Given the description of an element on the screen output the (x, y) to click on. 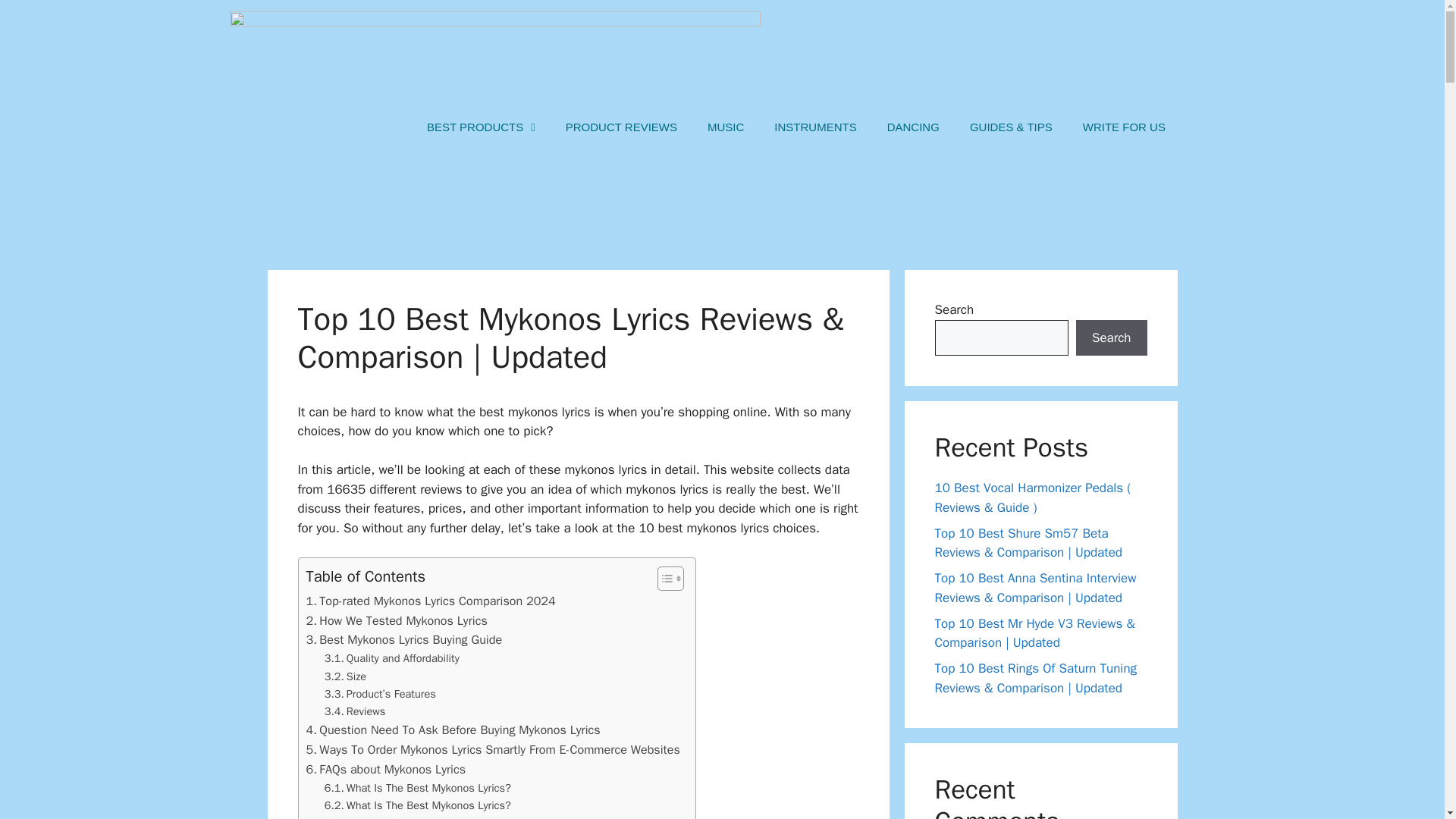
FAQs about Mykonos Lyrics (385, 769)
BEST PRODUCTS (481, 126)
What Is The Best Mykonos Lyrics? (417, 787)
Reviews (354, 711)
Reviews (354, 711)
Quality and Affordability (392, 658)
How We Tested Mykonos Lyrics (396, 620)
INSTRUMENTS (814, 126)
FAQs about Mykonos Lyrics (385, 769)
Size (345, 676)
Quality and Affordability (392, 658)
Question Need To Ask Before Buying Mykonos Lyrics (452, 730)
PRODUCT REVIEWS (621, 126)
